Given the description of an element on the screen output the (x, y) to click on. 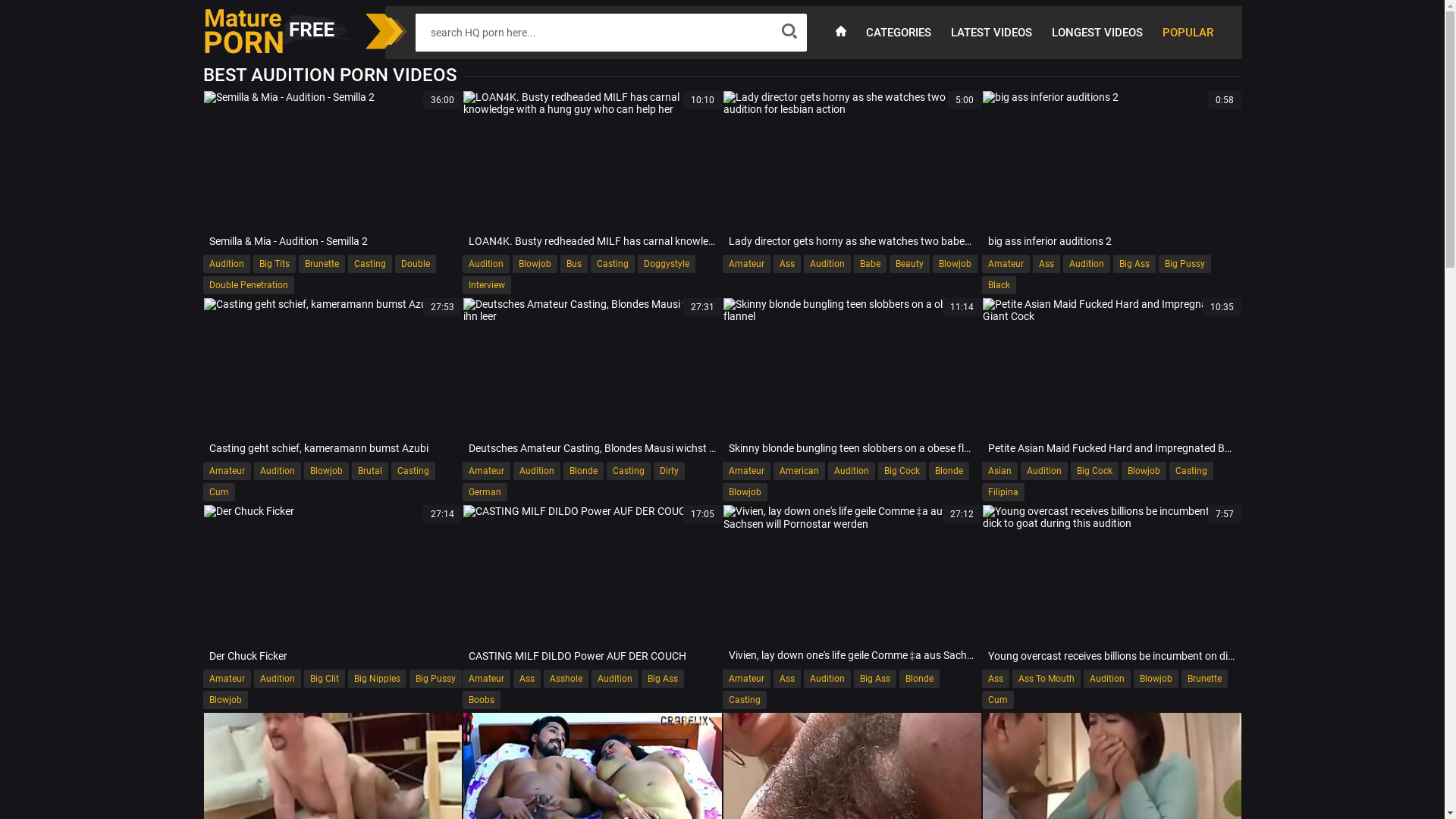
Casting Element type: text (743, 699)
Audition Element type: text (1106, 678)
Blowjob Element type: text (743, 492)
Big Cock Element type: text (1094, 470)
Audition Element type: text (826, 263)
American Element type: text (799, 470)
Amateur Element type: text (745, 678)
Ass Element type: text (786, 678)
Amateur Element type: text (227, 470)
Ass Element type: text (786, 263)
Casting Element type: text (413, 470)
Search X Videos Element type: hover (593, 32)
LATEST VIDEOS Element type: text (990, 31)
Blonde Element type: text (948, 470)
Ass Element type: text (1046, 263)
Big Ass Element type: text (1134, 263)
Babe Element type: text (869, 263)
Audition Element type: text (826, 678)
Casting Element type: text (369, 263)
Big Nipples Element type: text (376, 678)
Big Ass Element type: text (662, 678)
Brunette Element type: text (321, 263)
Blowjob Element type: text (1155, 678)
Blowjob Element type: text (534, 263)
Cum Element type: text (997, 699)
Ass Element type: text (526, 678)
Blonde Element type: text (583, 470)
27:53
Casting geht schief, kameramann bumst Azubi Element type: text (332, 378)
Dirty Element type: text (668, 470)
Big Cock Element type: text (901, 470)
Blowjob Element type: text (1143, 470)
German Element type: text (484, 492)
Double Element type: text (414, 263)
Amateur Element type: text (745, 470)
Blowjob Element type: text (325, 470)
Casting Element type: text (628, 470)
CATEGORIES Element type: text (897, 31)
Blowjob Element type: text (954, 263)
0:58
big ass inferior auditions 2 Element type: text (1111, 171)
Audition Element type: text (1086, 263)
Amateur Element type: text (486, 470)
Cum Element type: text (219, 492)
Bus Element type: text (573, 263)
Amateur Element type: text (486, 678)
Big Ass Element type: text (874, 678)
Big Pussy Element type: text (1184, 263)
Asian Element type: text (999, 470)
Interview Element type: text (486, 285)
Audition Element type: text (276, 678)
Audition Element type: text (276, 470)
Brutal Element type: text (369, 470)
Amateur Element type: text (745, 263)
LONGEST VIDEOS Element type: text (1096, 31)
Double Penetration Element type: text (248, 285)
Audition Element type: text (536, 470)
Boobs Element type: text (481, 699)
Big Tits Element type: text (274, 263)
Casting Element type: text (1191, 470)
Audition Element type: text (851, 470)
Black Element type: text (999, 285)
Ass To Mouth Element type: text (1046, 678)
Big Clit Element type: text (323, 678)
Audition Element type: text (1043, 470)
Doggystyle Element type: text (666, 263)
Amateur Element type: text (227, 678)
Beauty Element type: text (908, 263)
Casting Element type: text (612, 263)
27:14
Der Chuck Ficker Element type: text (332, 585)
Big Pussy Element type: text (435, 678)
Brunette Element type: text (1204, 678)
17:05
CASTING MILF DILDO Power AUF DER COUCH Element type: text (592, 585)
Filipina Element type: text (1003, 492)
Asshole Element type: text (565, 678)
Ass Element type: text (995, 678)
Blonde Element type: text (919, 678)
Audition Element type: text (226, 263)
Blowjob Element type: text (225, 699)
Audition Element type: text (485, 263)
Amateur Element type: text (1005, 263)
Audition Element type: text (614, 678)
POPULAR Element type: text (1187, 31)
36:00
Semilla & Mia - Audition - Semilla 2 Element type: text (332, 171)
